Given the description of an element on the screen output the (x, y) to click on. 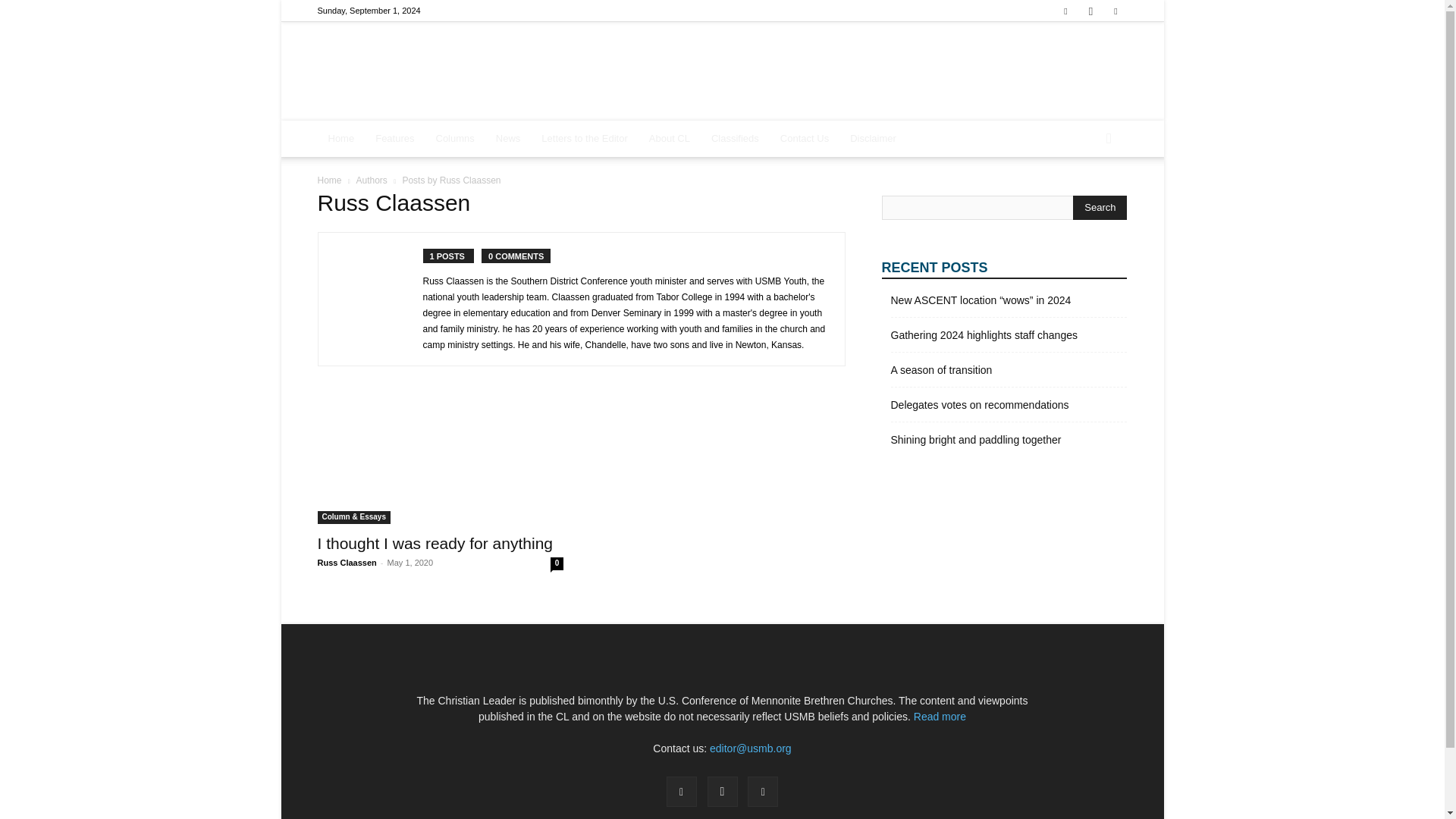
Instagram (1090, 10)
Search (1099, 207)
Facebook (1065, 10)
Twitter (1114, 10)
